Given the description of an element on the screen output the (x, y) to click on. 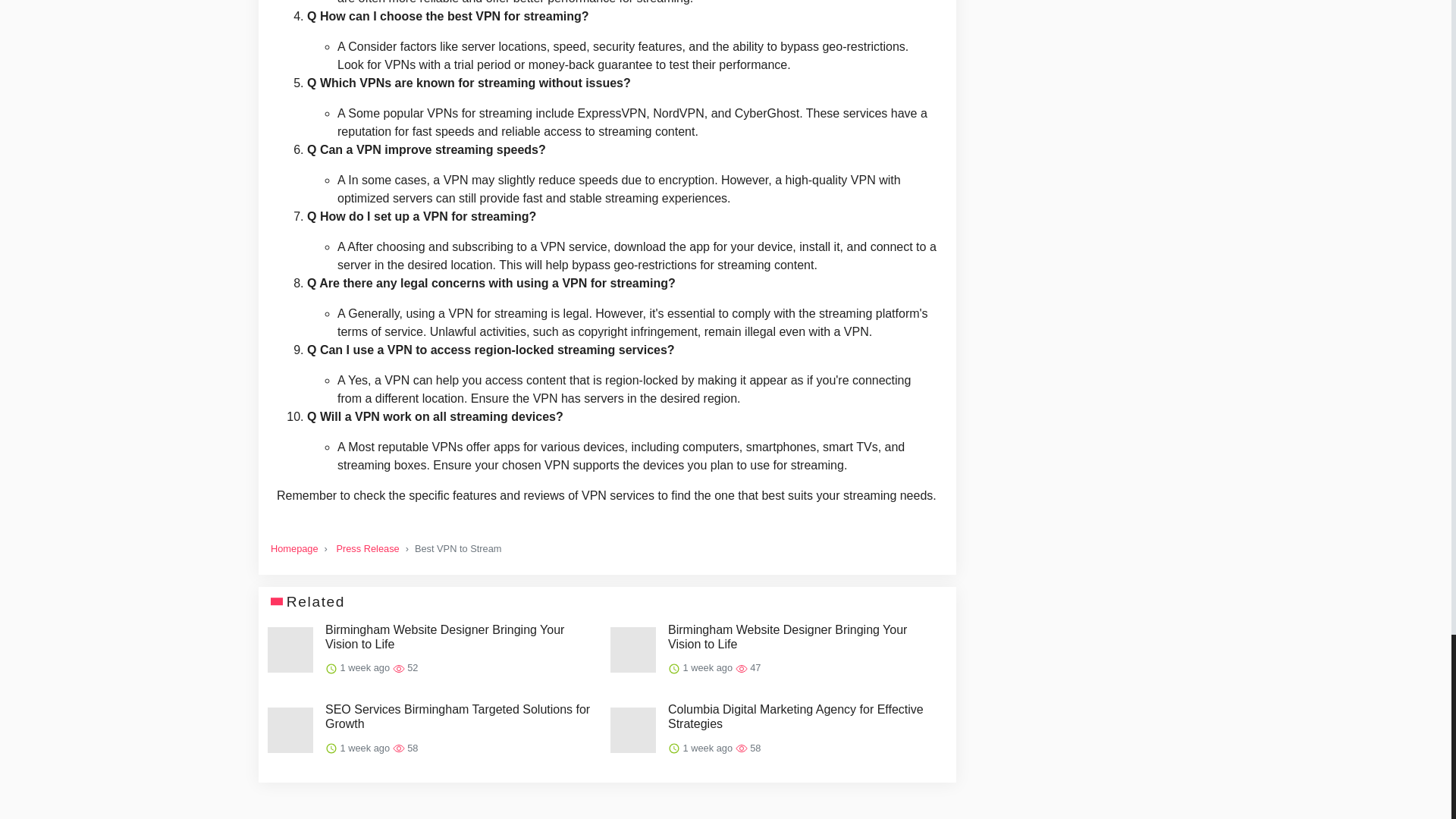
Columbia Digital Marketing Agency for Effective Strategies (804, 716)
Press Release (367, 548)
Birmingham Website Designer Bringing Your Vision to Life (461, 636)
Birmingham Website Designer Bringing Your Vision to Life (461, 636)
SEO Services Birmingham Targeted Solutions for Growth (461, 716)
Birmingham Website Designer Bringing Your Vision to Life (804, 636)
SEO Services Birmingham Targeted Solutions for Growth (461, 716)
Columbia Digital Marketing Agency for Effective Strategies (804, 716)
Birmingham Website Designer Bringing Your Vision to Life (804, 636)
Homepage (294, 548)
